Given the description of an element on the screen output the (x, y) to click on. 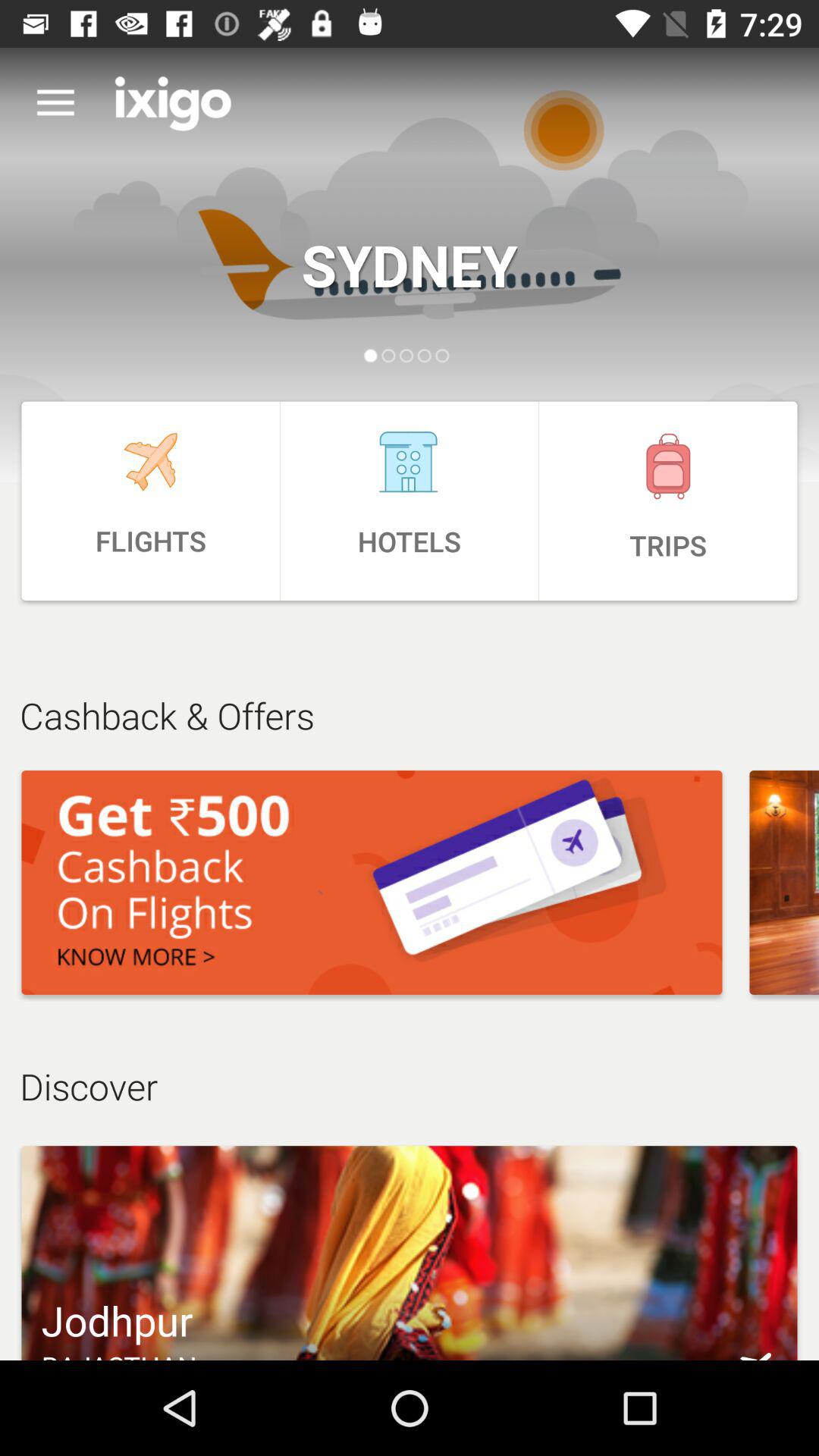
turn off icon next to flights icon (409, 500)
